Given the description of an element on the screen output the (x, y) to click on. 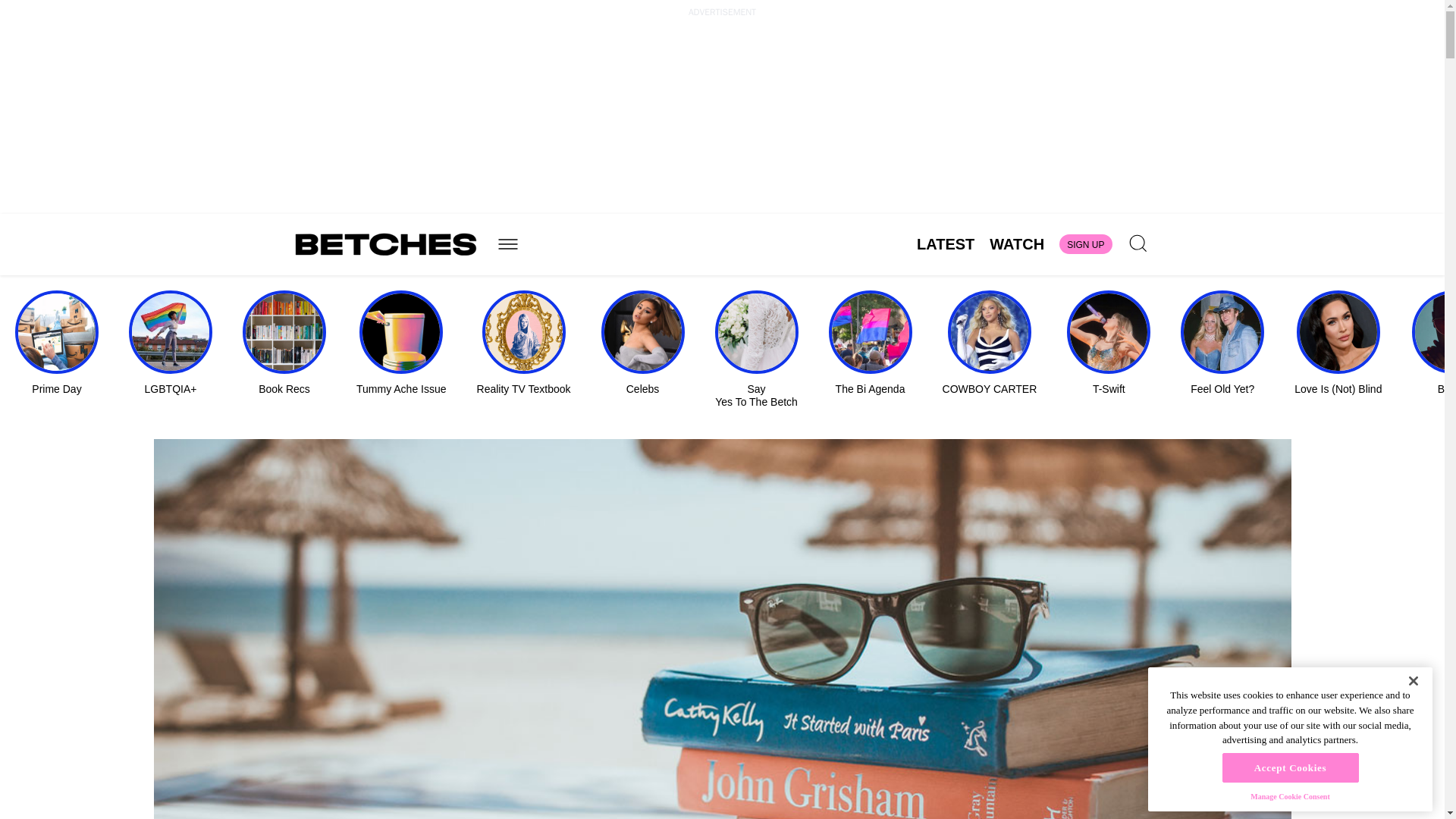
Reality TV Textbook (523, 342)
SIGN UP (1085, 243)
WATCH (1016, 244)
LATEST (945, 244)
